Given the description of an element on the screen output the (x, y) to click on. 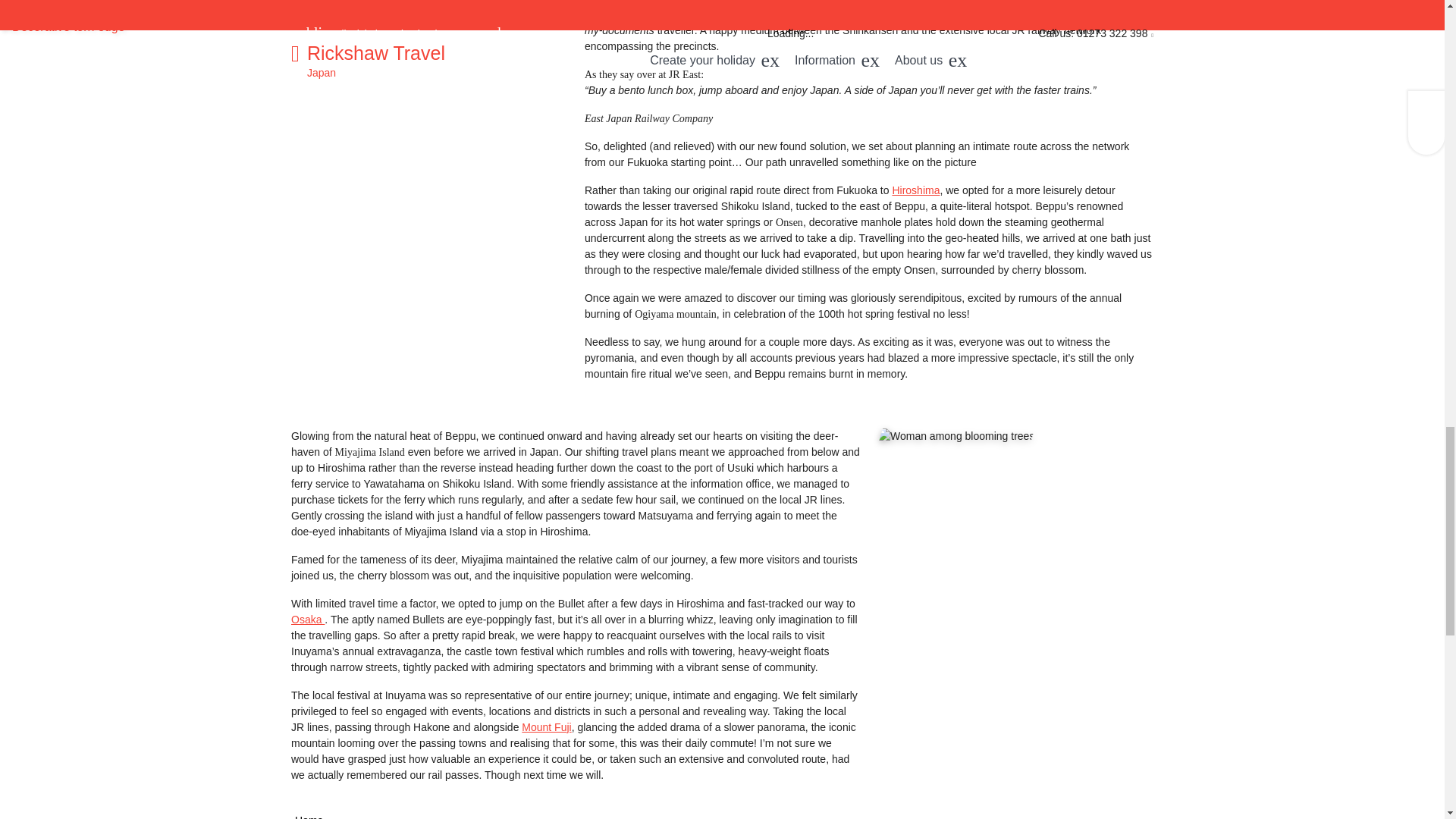
Mount Fuji (545, 727)
 Osaka  (307, 619)
Hiroshima (915, 190)
